Given the description of an element on the screen output the (x, y) to click on. 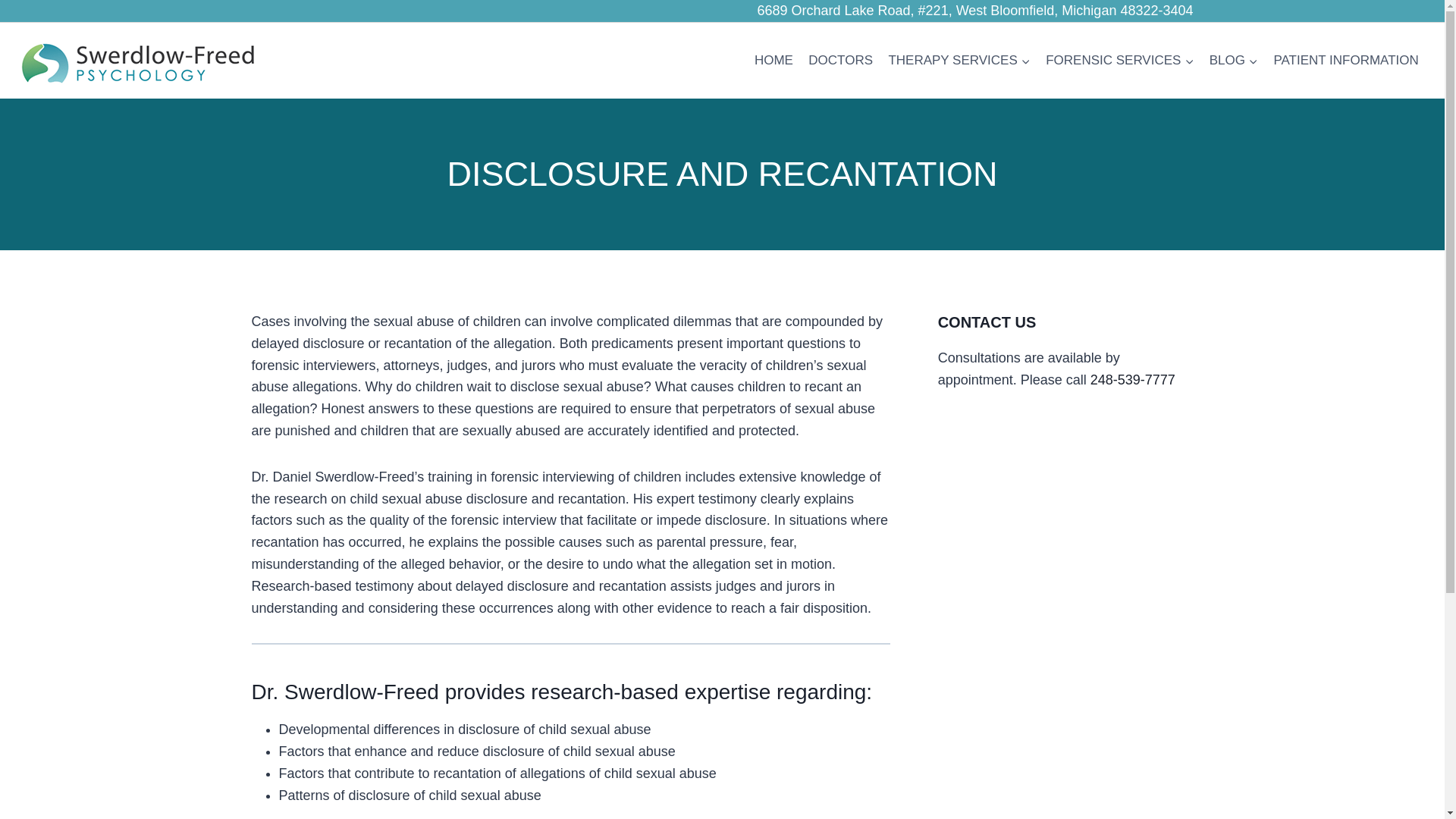
PATIENT INFORMATION (1345, 60)
DOCTORS (840, 60)
FORENSIC SERVICES (1120, 60)
248-539-7777 (1132, 379)
THERAPY SERVICES (959, 60)
BLOG (1234, 60)
HOME (773, 60)
